Given the description of an element on the screen output the (x, y) to click on. 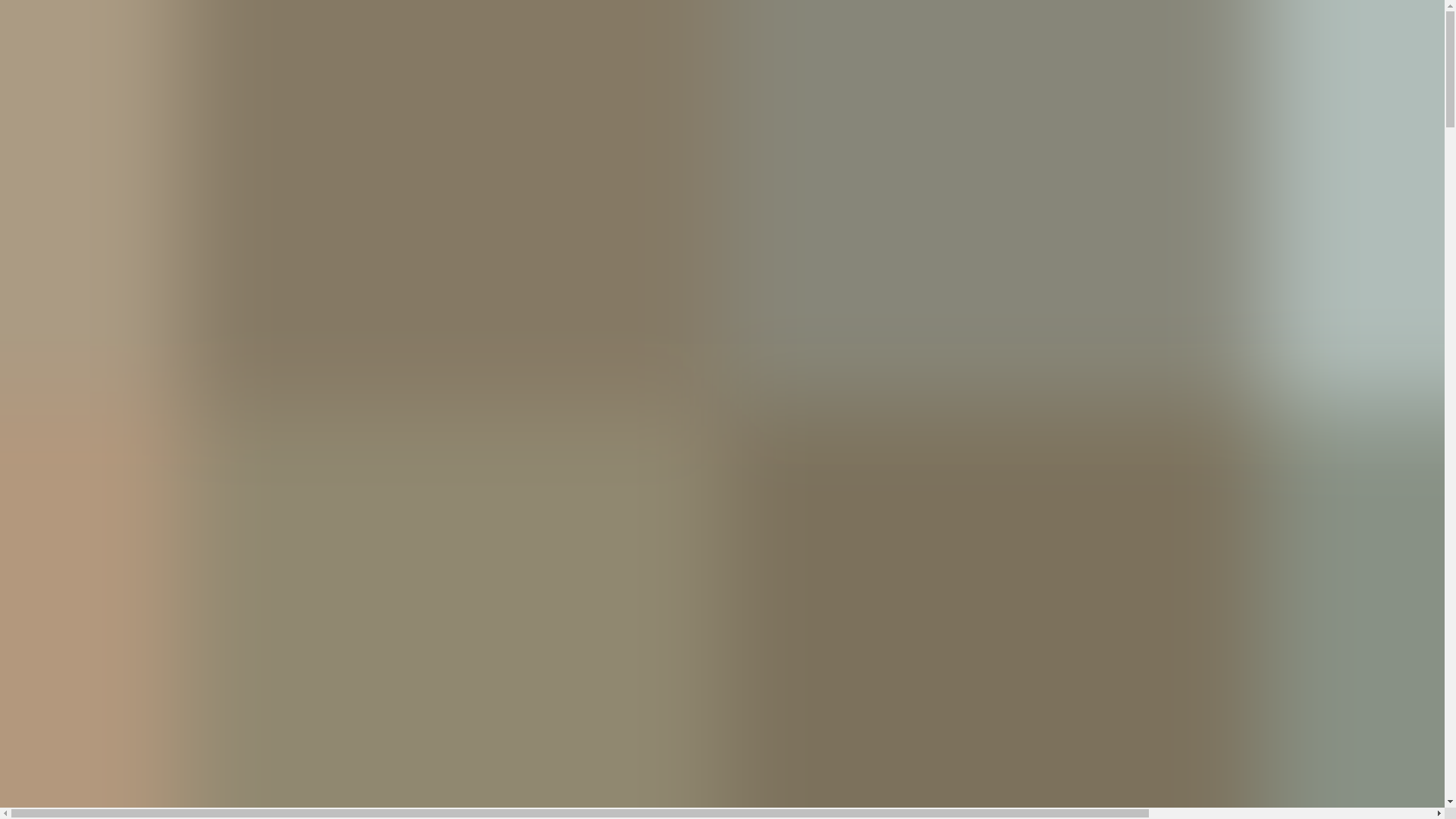
Add to wishlist (136, 612)
Add to wishlist (101, 515)
Experiences (66, 413)
24E3AFE5-0B4F-4C64-ACAD-AD23381CA726 (20, 286)
Add to wishlist (177, 515)
Add to wishlist (173, 515)
Riyadh (53, 378)
Share (31, 512)
24E3AFE5-0B4F-4C64-ACAD-AD23381CA726 (20, 280)
Add to wishlist (49, 612)
